Given the description of an element on the screen output the (x, y) to click on. 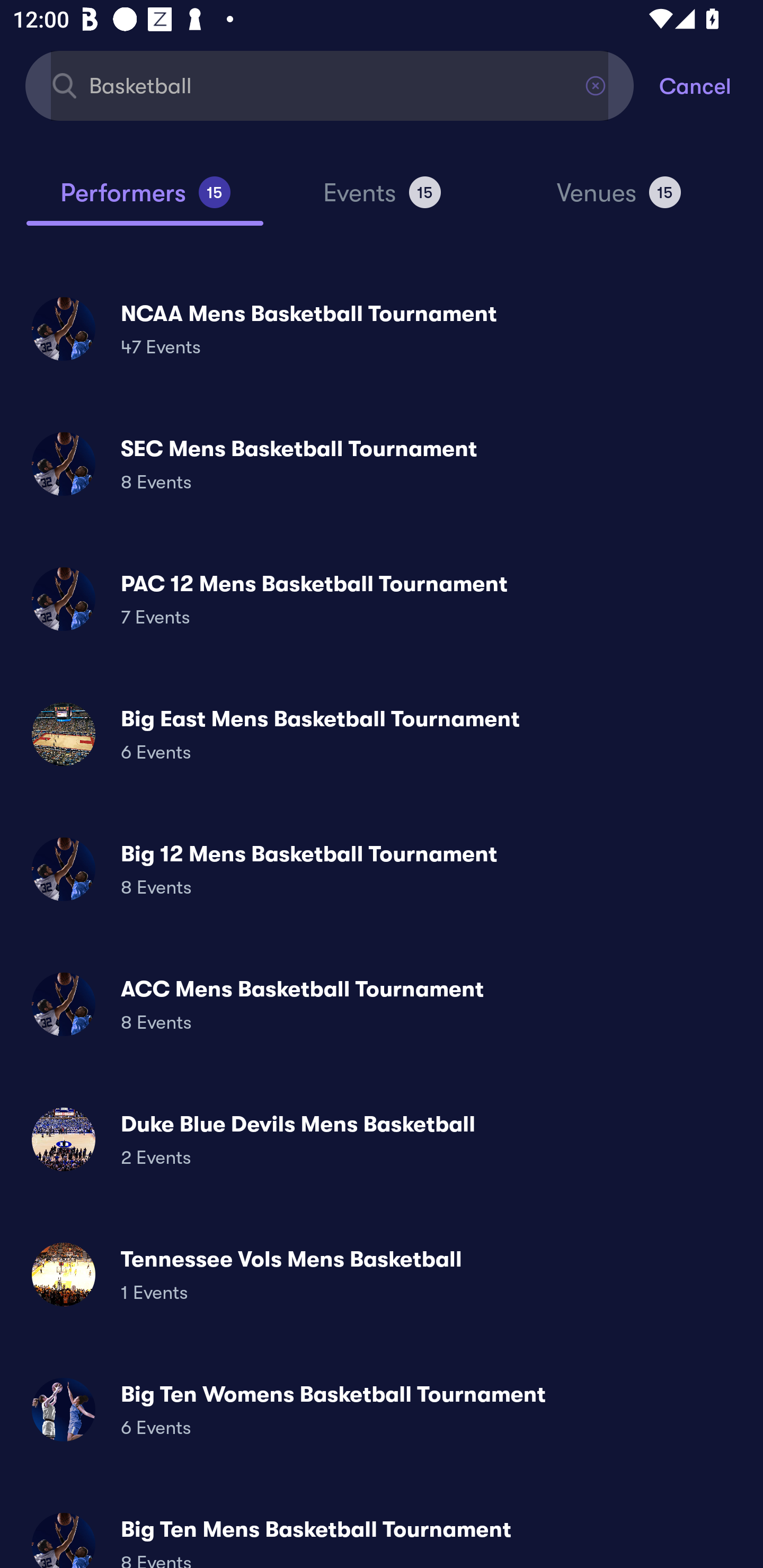
Basketball Find (329, 85)
Basketball Find (329, 85)
Cancel (711, 85)
Performers 15 (144, 200)
Events 15 (381, 200)
Venues 15 (618, 200)
NCAA Mens Basketball Tournament 47 Events (381, 328)
SEC Mens Basketball Tournament 8 Events (381, 464)
PAC 12 Mens Basketball Tournament 7 Events (381, 598)
Big East Mens Basketball Tournament 6 Events (381, 734)
Big 12 Mens Basketball Tournament 8 Events (381, 869)
ACC Mens Basketball Tournament 8 Events (381, 1004)
Duke Blue Devils Mens Basketball 2 Events (381, 1138)
Tennessee Vols Mens Basketball 1 Events (381, 1273)
Big Ten Womens Basketball Tournament 6 Events (381, 1409)
Big Ten Mens Basketball Tournament 8 Events (381, 1532)
